Given the description of an element on the screen output the (x, y) to click on. 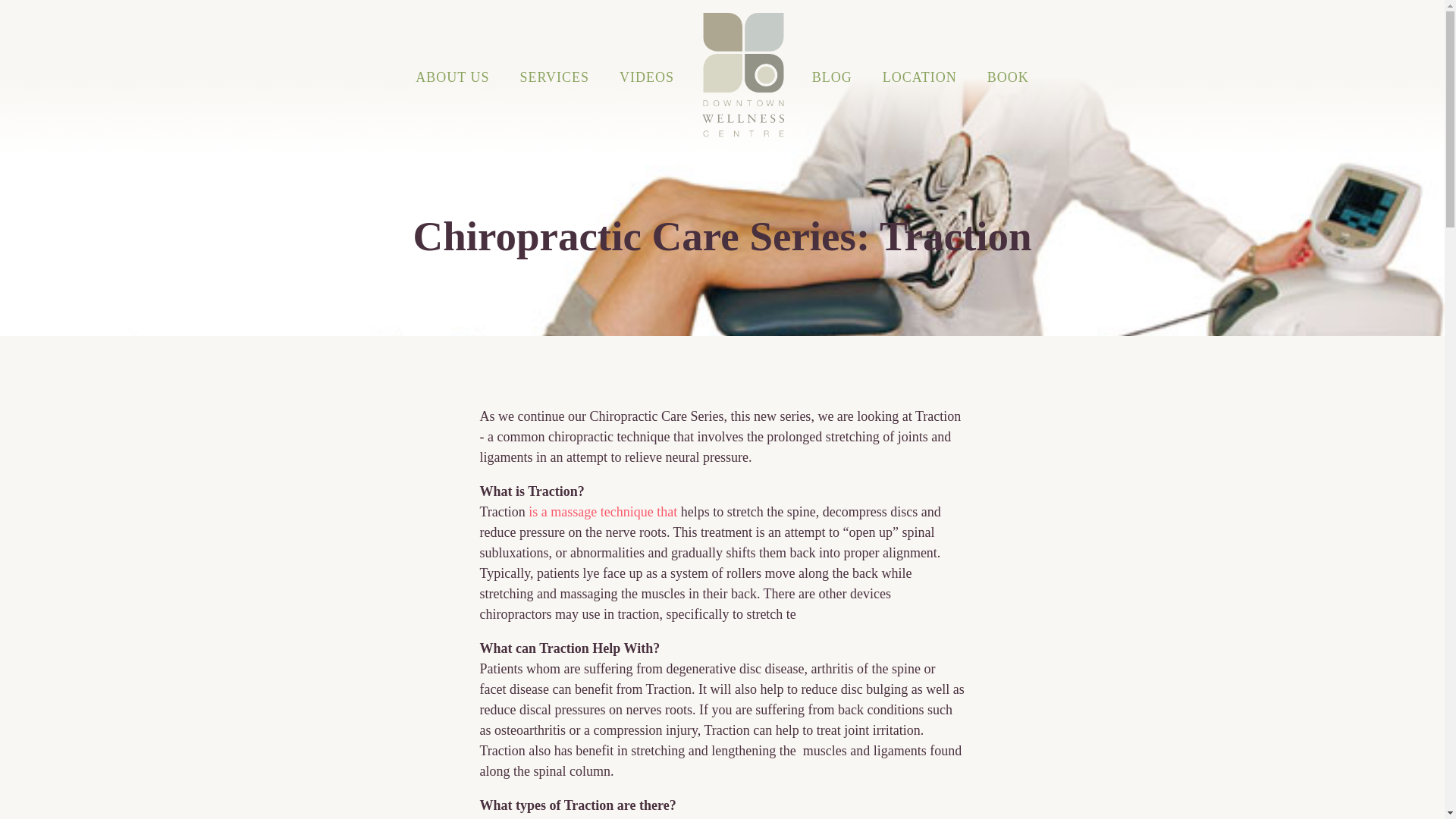
BLOG (831, 77)
BOOK (1007, 77)
is a massage technique that (602, 511)
VIDEOS (646, 77)
ABOUT US (451, 77)
LOCATION (919, 77)
SERVICES (555, 77)
